Given the description of an element on the screen output the (x, y) to click on. 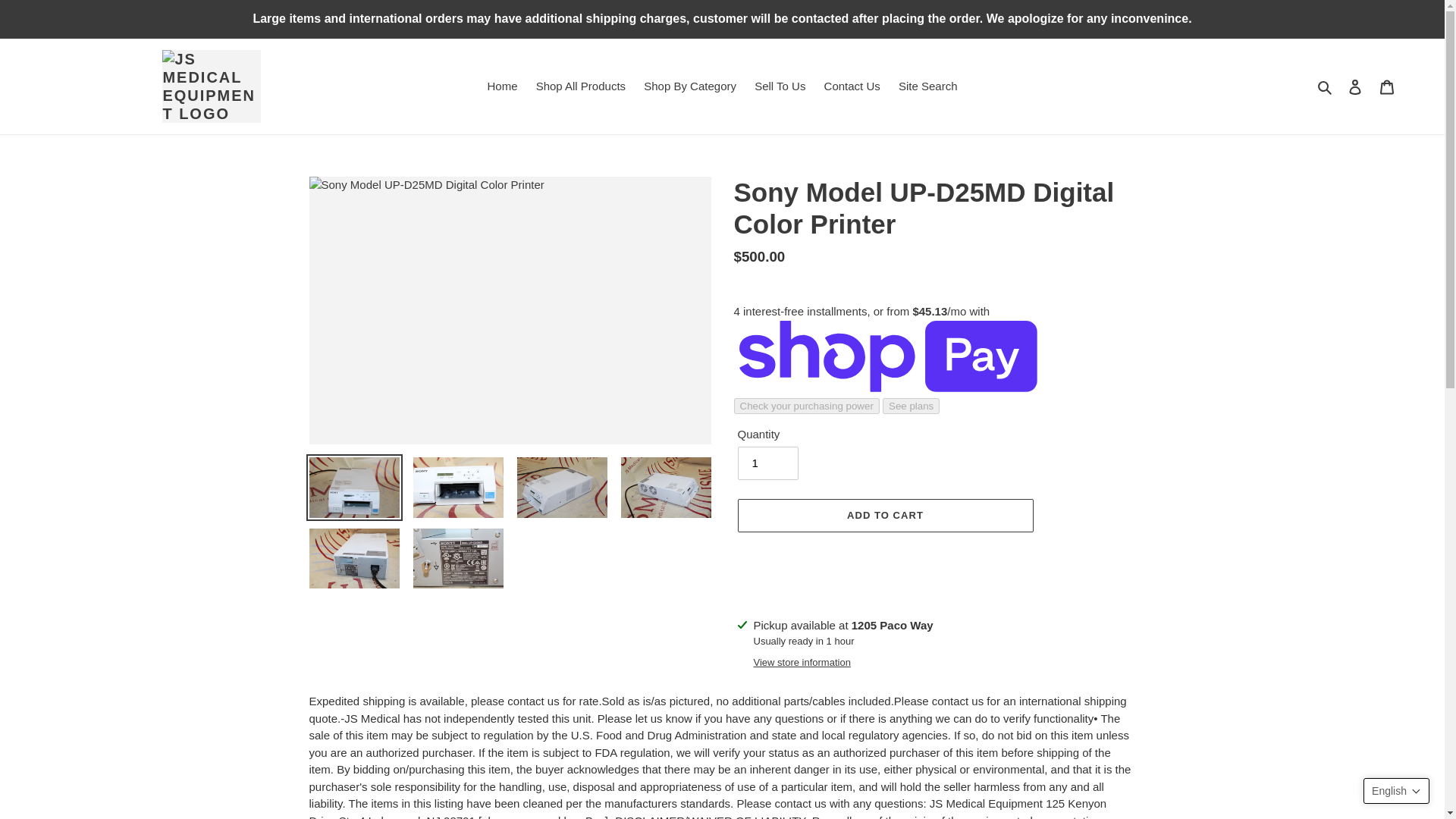
Contact Us (852, 86)
Search (1326, 86)
View store information (802, 662)
Log in (1355, 86)
Cart (1387, 86)
ADD TO CART (884, 515)
Shop By Category (690, 86)
Site Search (928, 86)
1 (766, 462)
Sell To Us (779, 86)
Shop All Products (580, 86)
Home (501, 86)
